Given the description of an element on the screen output the (x, y) to click on. 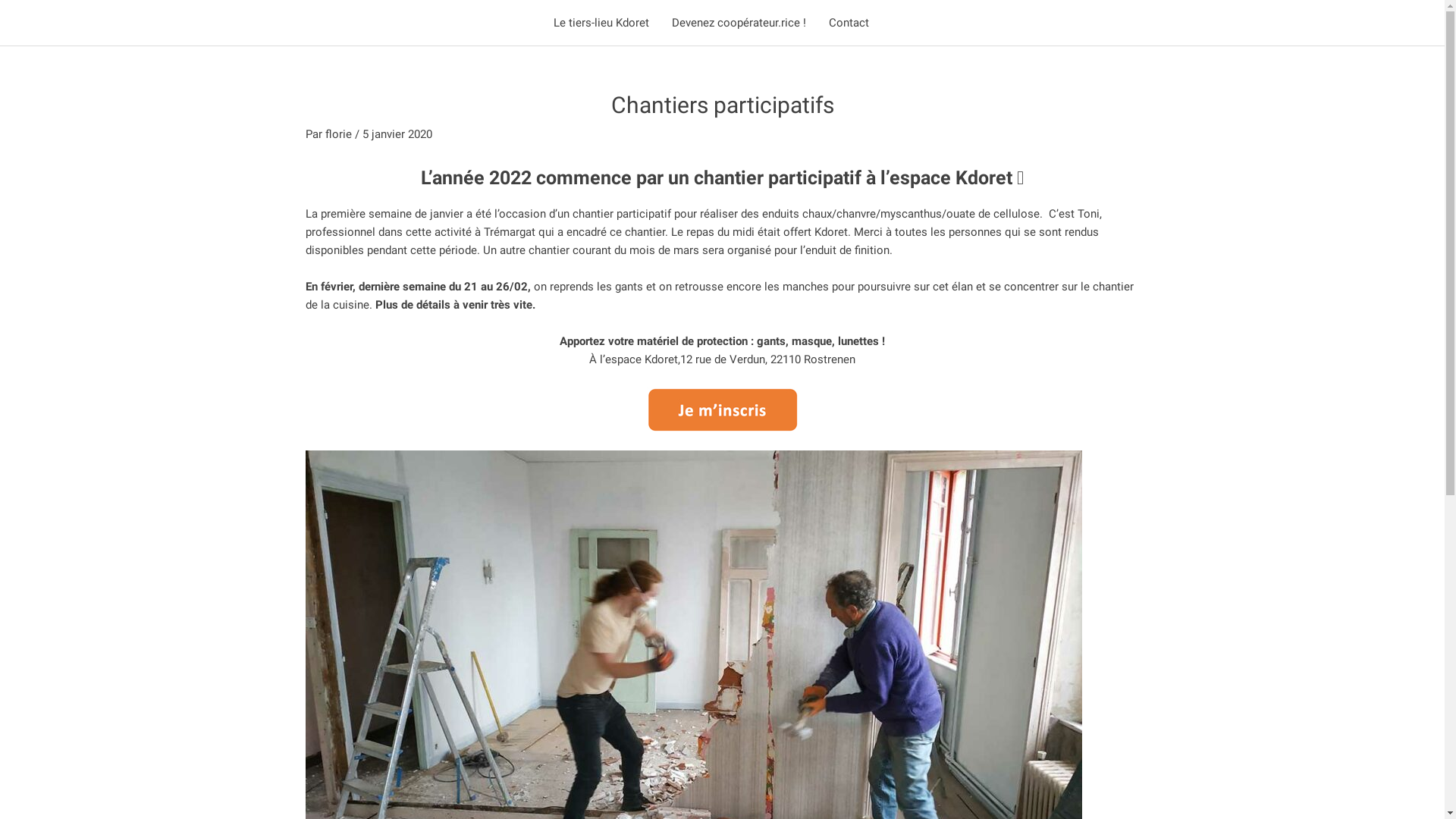
florie Element type: text (339, 134)
Contact Element type: text (848, 22)
Le tiers-lieu Kdoret Element type: text (600, 22)
